Given the description of an element on the screen output the (x, y) to click on. 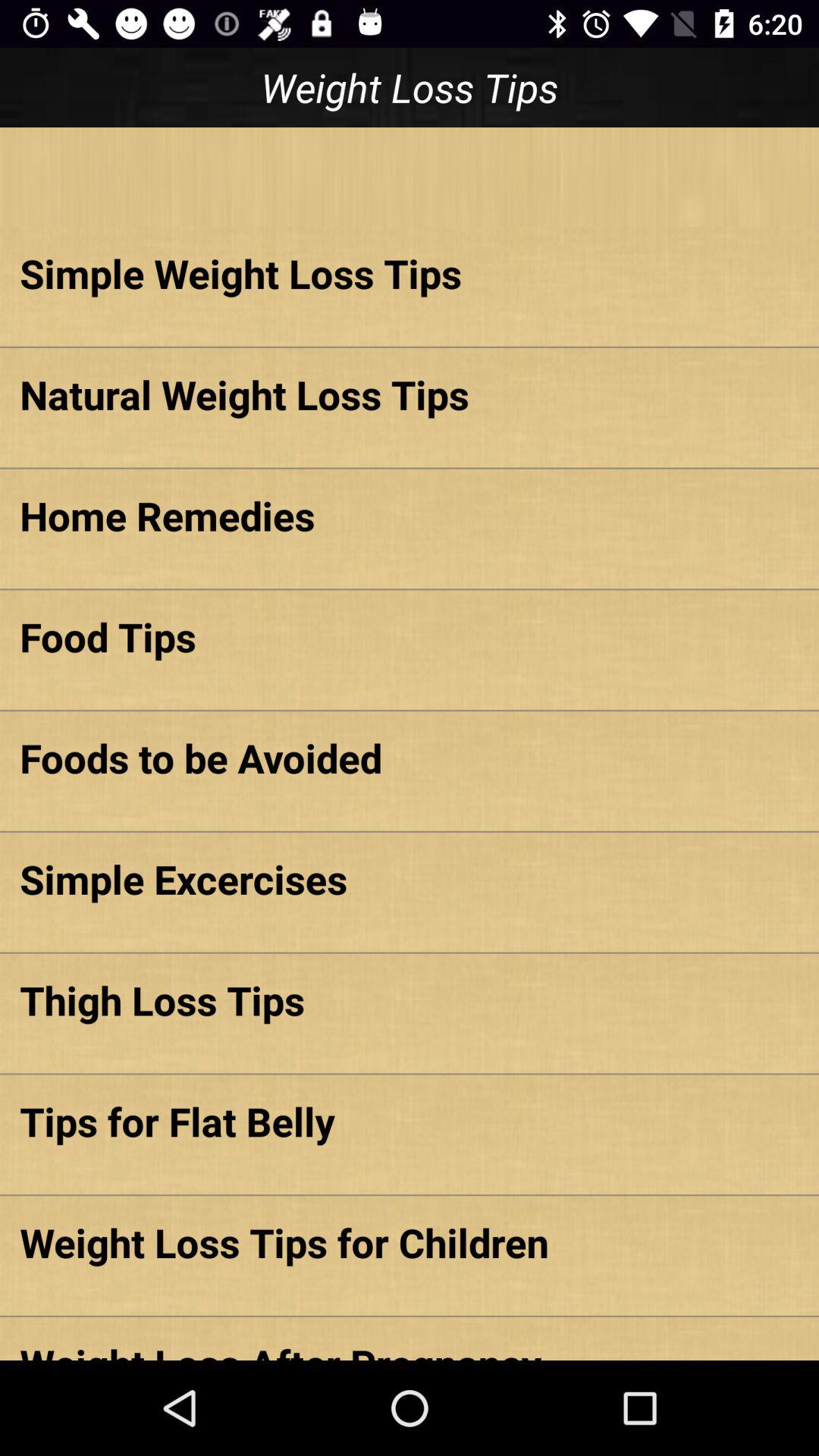
select home remedies item (409, 515)
